Given the description of an element on the screen output the (x, y) to click on. 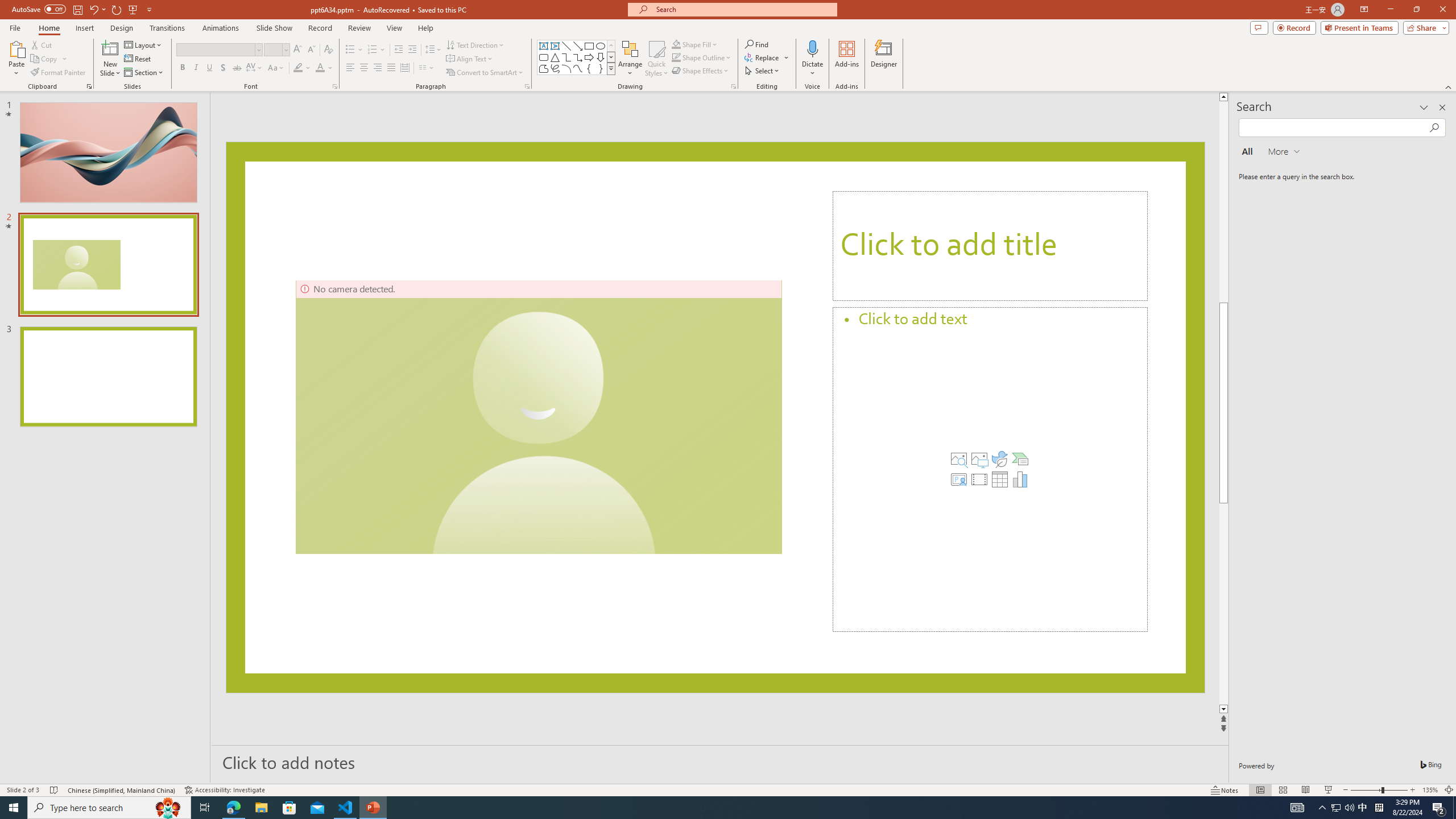
Font Color (320, 67)
Content Placeholder (989, 469)
Justify (390, 67)
Save (77, 9)
Microsoft search (742, 9)
Text Highlight Color (302, 67)
Copy (49, 58)
Text Highlight Color (297, 67)
Reset (138, 58)
Collapse the Ribbon (1448, 86)
Stock Images (958, 458)
Reading View (1305, 790)
Font... (334, 85)
Bullets (349, 49)
